Given the description of an element on the screen output the (x, y) to click on. 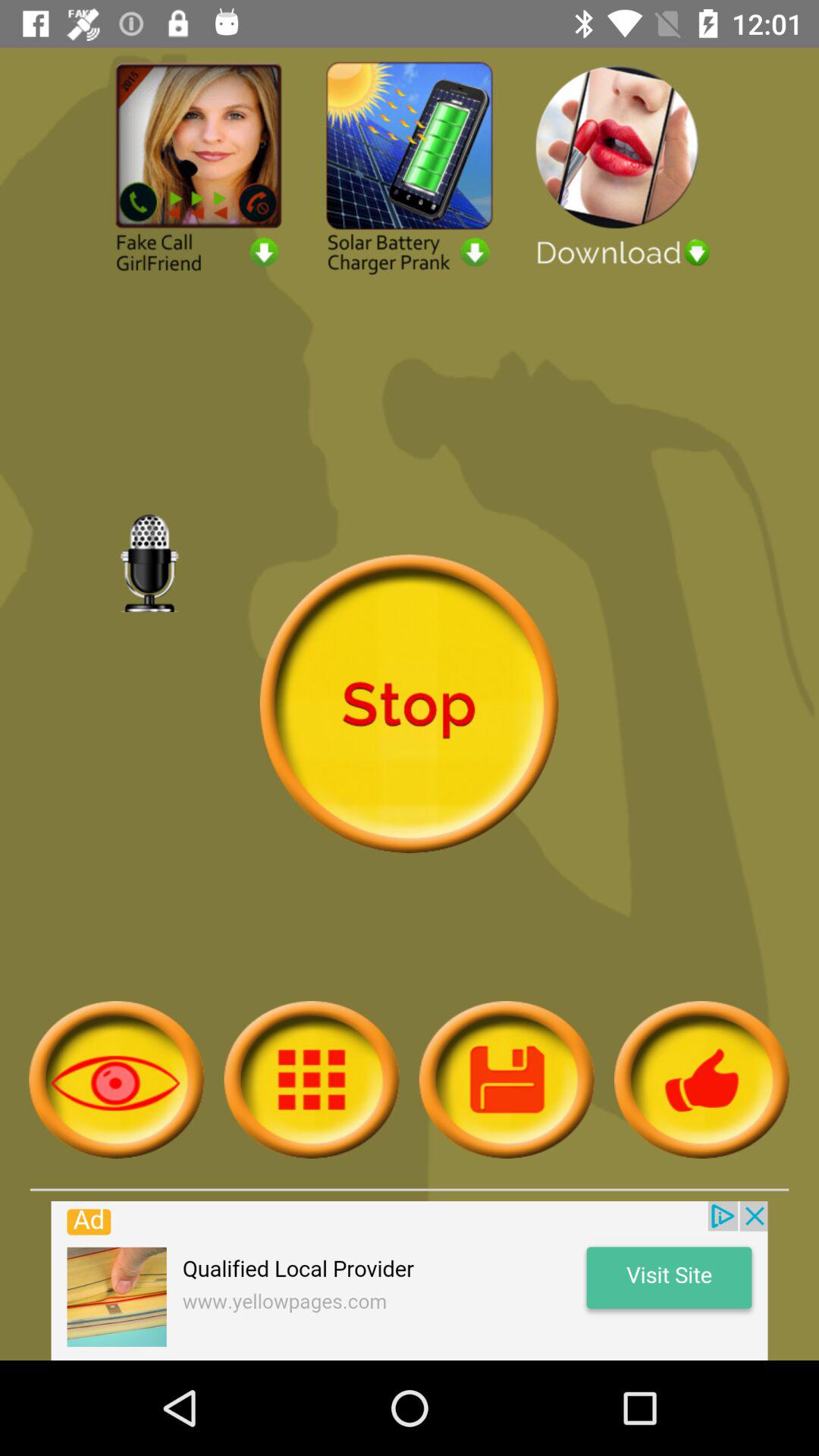
view advertisement (409, 166)
